Given the description of an element on the screen output the (x, y) to click on. 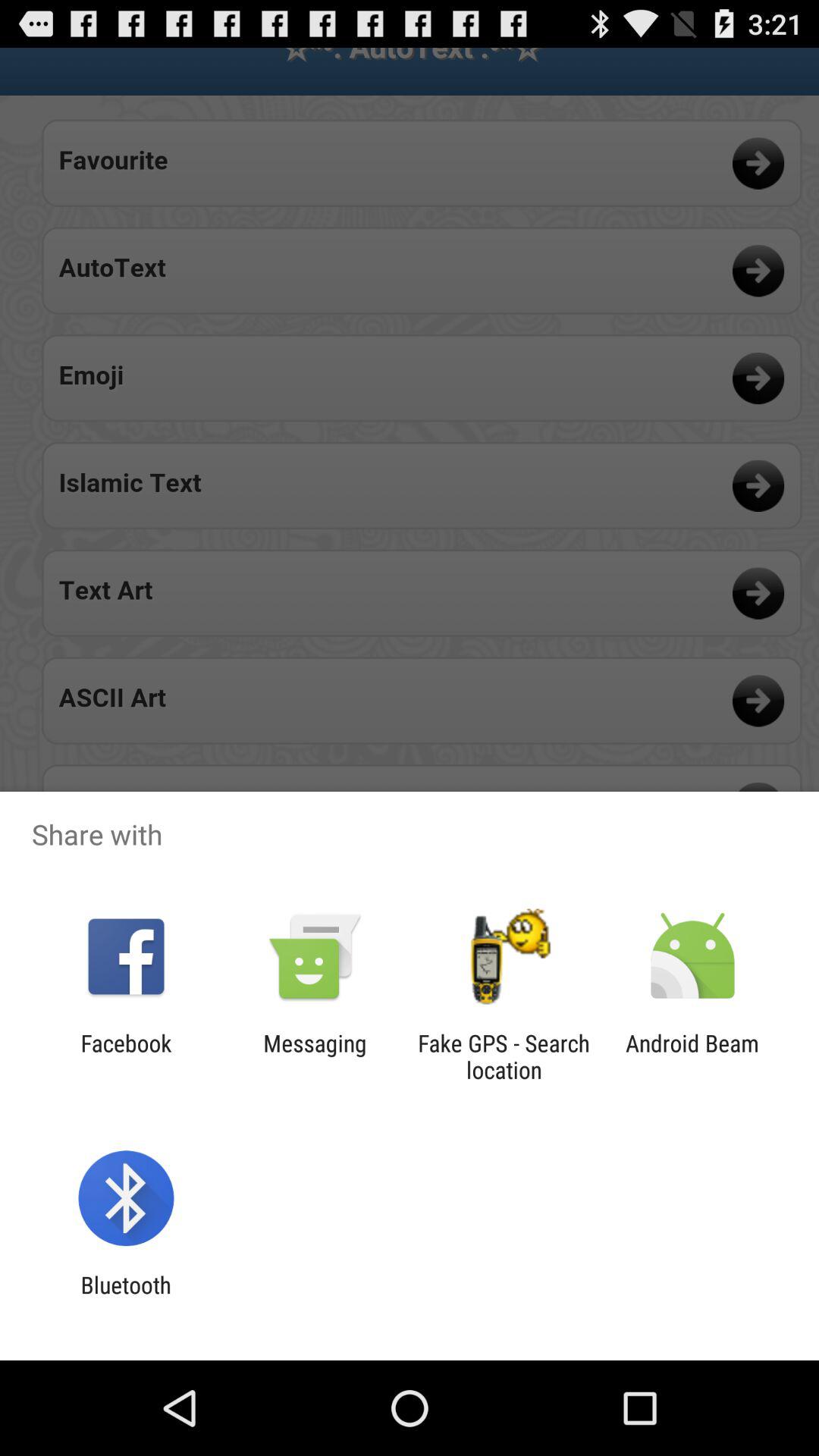
turn off app at the bottom right corner (692, 1056)
